Given the description of an element on the screen output the (x, y) to click on. 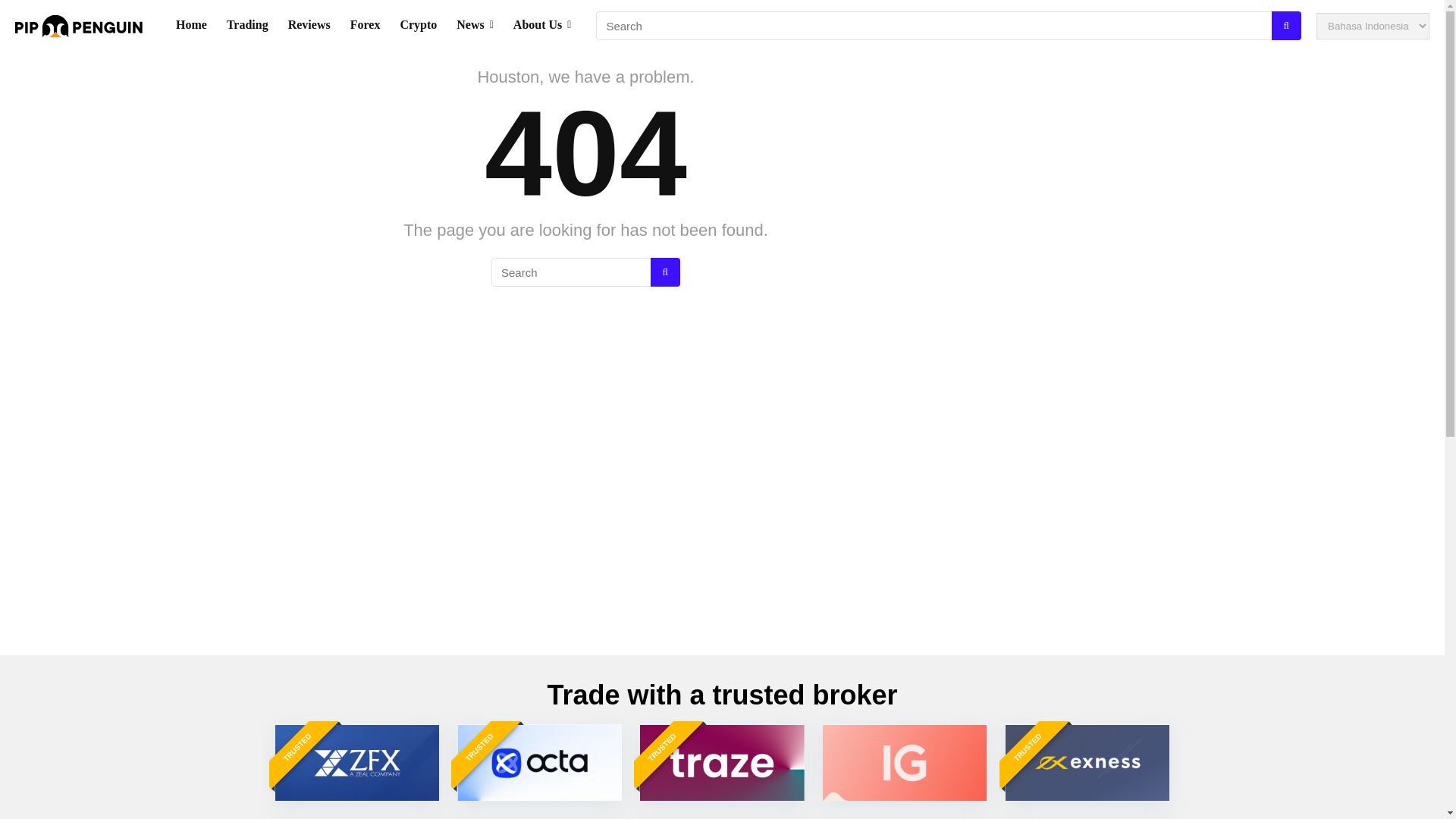
Forex (365, 25)
About Us (541, 25)
News (474, 25)
Trading (247, 25)
Home (190, 25)
Crypto (418, 25)
Reviews (309, 25)
